Given the description of an element on the screen output the (x, y) to click on. 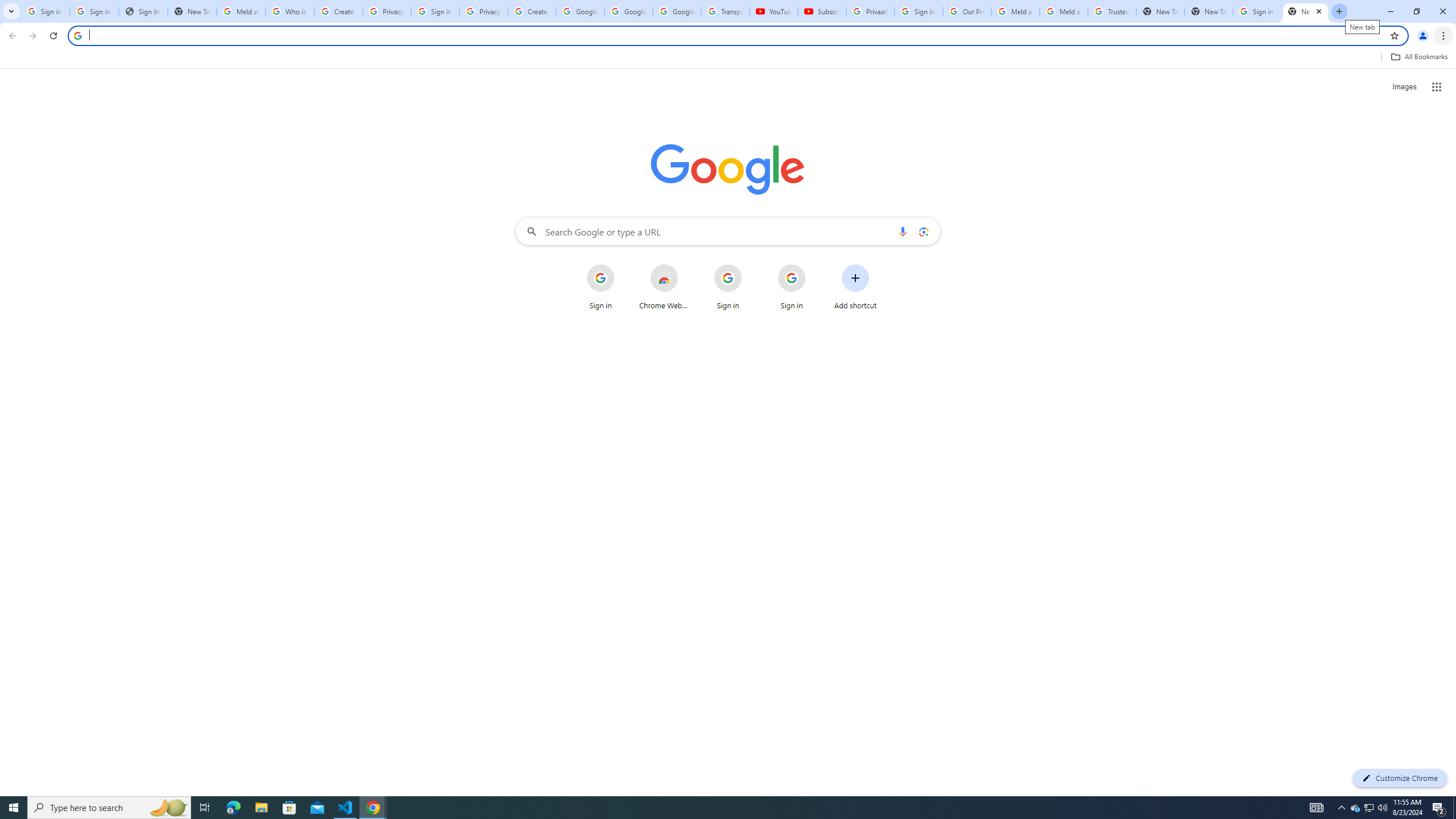
Sign in - Google Accounts (435, 11)
Google Account (676, 11)
Sign in - Google Accounts (45, 11)
YouTube (773, 11)
Sign in - Google Accounts (94, 11)
